Given the description of an element on the screen output the (x, y) to click on. 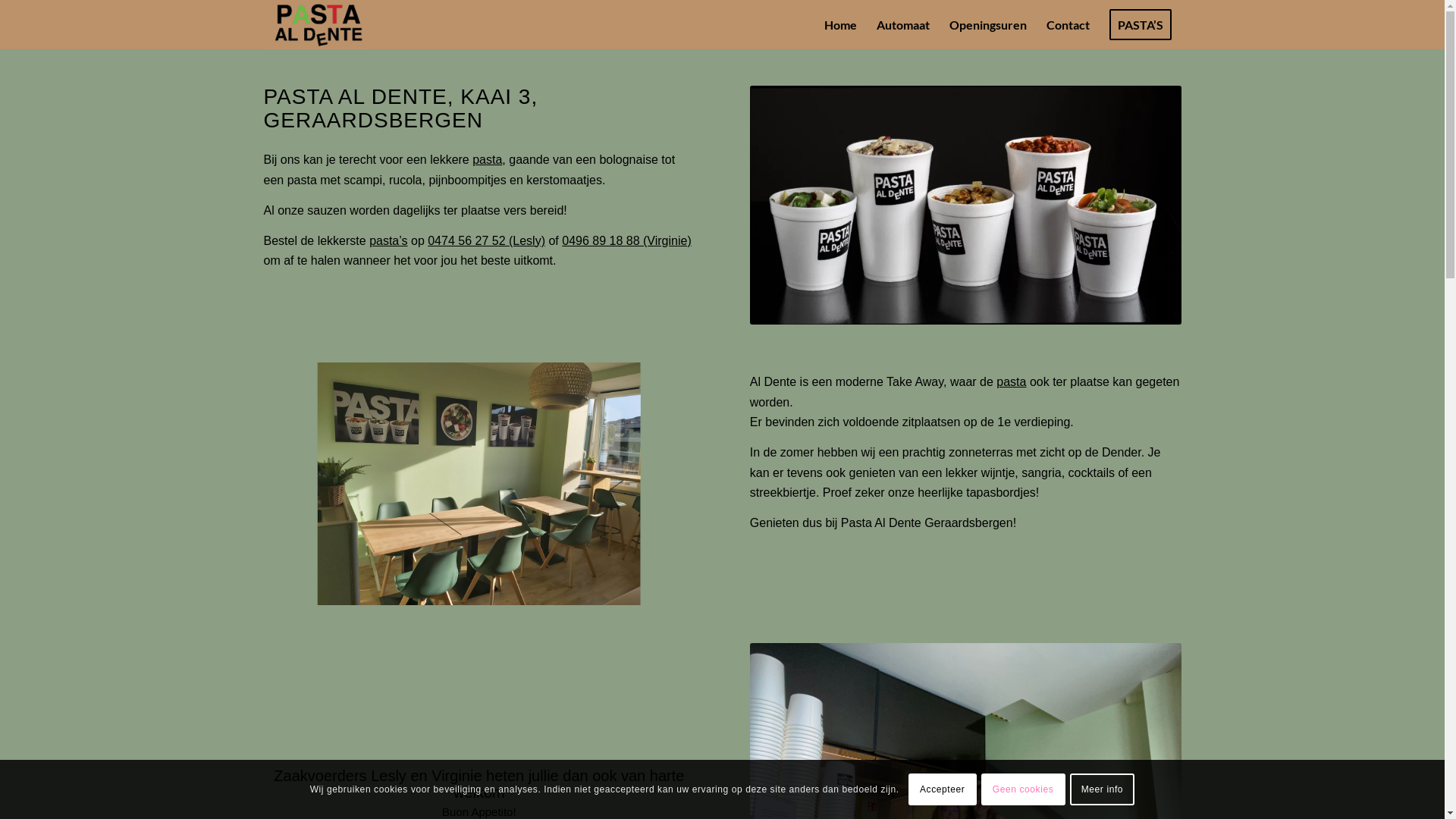
Openingsuren Element type: text (986, 24)
zitplaatsen_boven Element type: hover (479, 483)
pasta's Element type: hover (965, 204)
Automaat Element type: text (902, 24)
Contact Element type: text (1066, 24)
0496 89 18 88 (Virginie) Element type: text (626, 240)
pasta Element type: text (487, 159)
Accepteer Element type: text (942, 789)
Home Element type: text (840, 24)
Meer info Element type: text (1102, 789)
pasta Element type: text (1011, 381)
logo_enfold Element type: hover (317, 24)
0474 56 27 52 (Lesly) Element type: text (486, 240)
Geen cookies Element type: text (1023, 789)
